Given the description of an element on the screen output the (x, y) to click on. 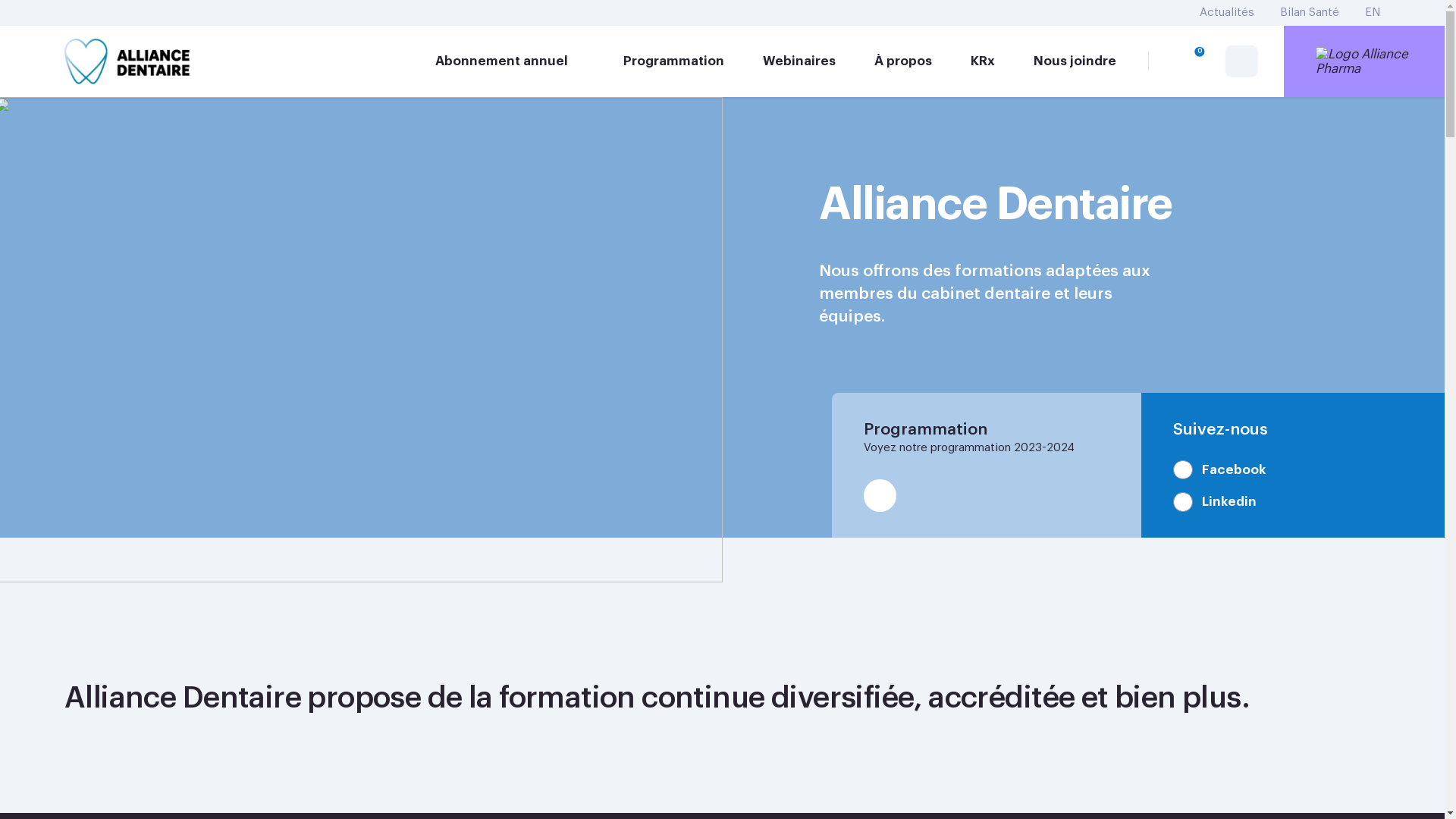
Webinaires Element type: text (798, 61)
Panier Element type: hover (1189, 61)
Programmation
Voyez notre programmation 2023-2024 Element type: text (985, 464)
Facebook Element type: text (1219, 470)
Compte client Element type: hover (1241, 61)
KRx Element type: text (982, 61)
EN Element type: text (1372, 13)
Abonnement annuel Element type: text (509, 61)
Linkedin Element type: text (1214, 501)
Programmation Element type: text (673, 61)
Nous joindre Element type: text (1073, 61)
